Given the description of an element on the screen output the (x, y) to click on. 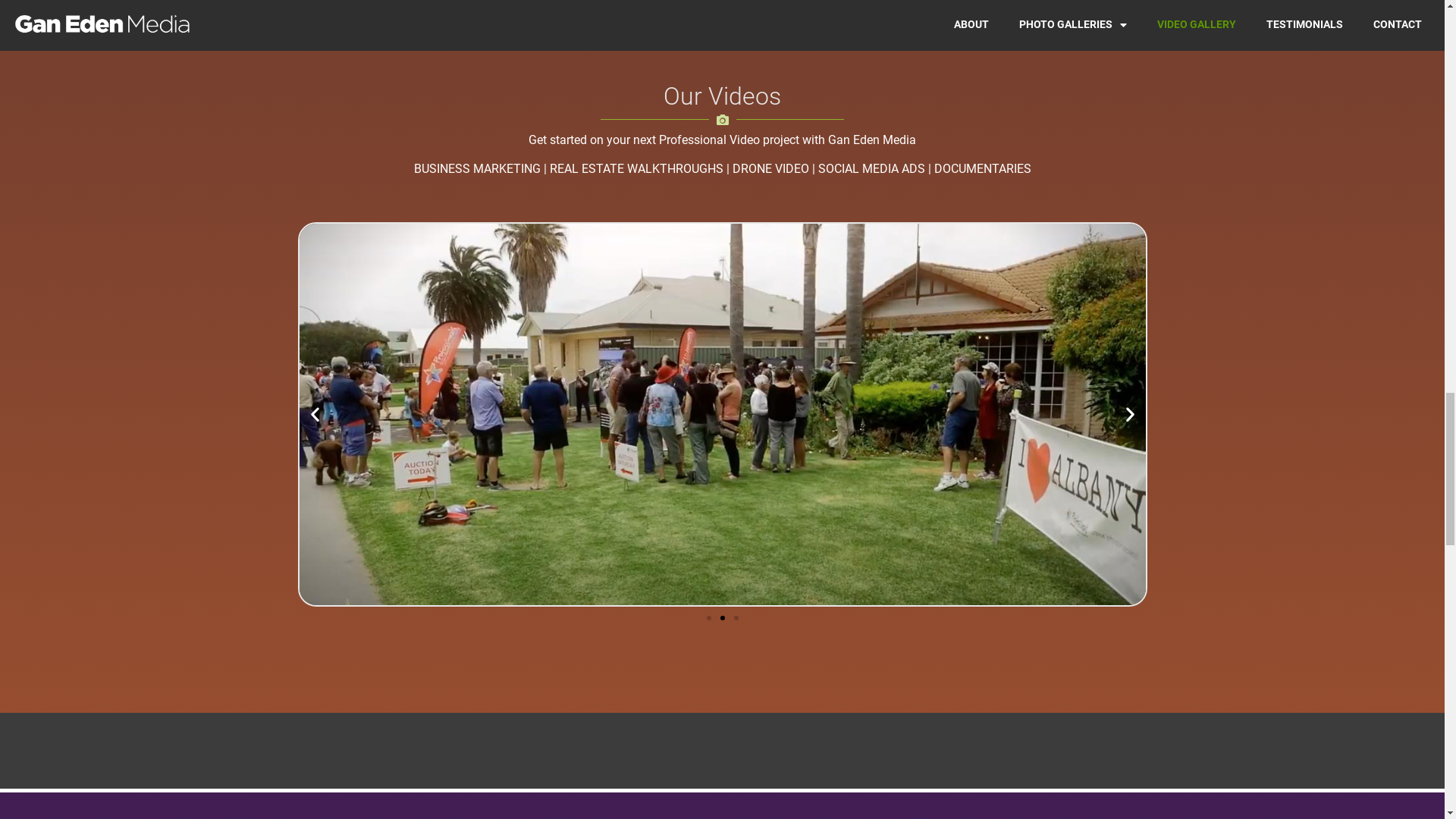
Video Production Element type: text (720, 517)
Photography Element type: text (550, 517)
Contact Us Element type: text (890, 517)
